Given the description of an element on the screen output the (x, y) to click on. 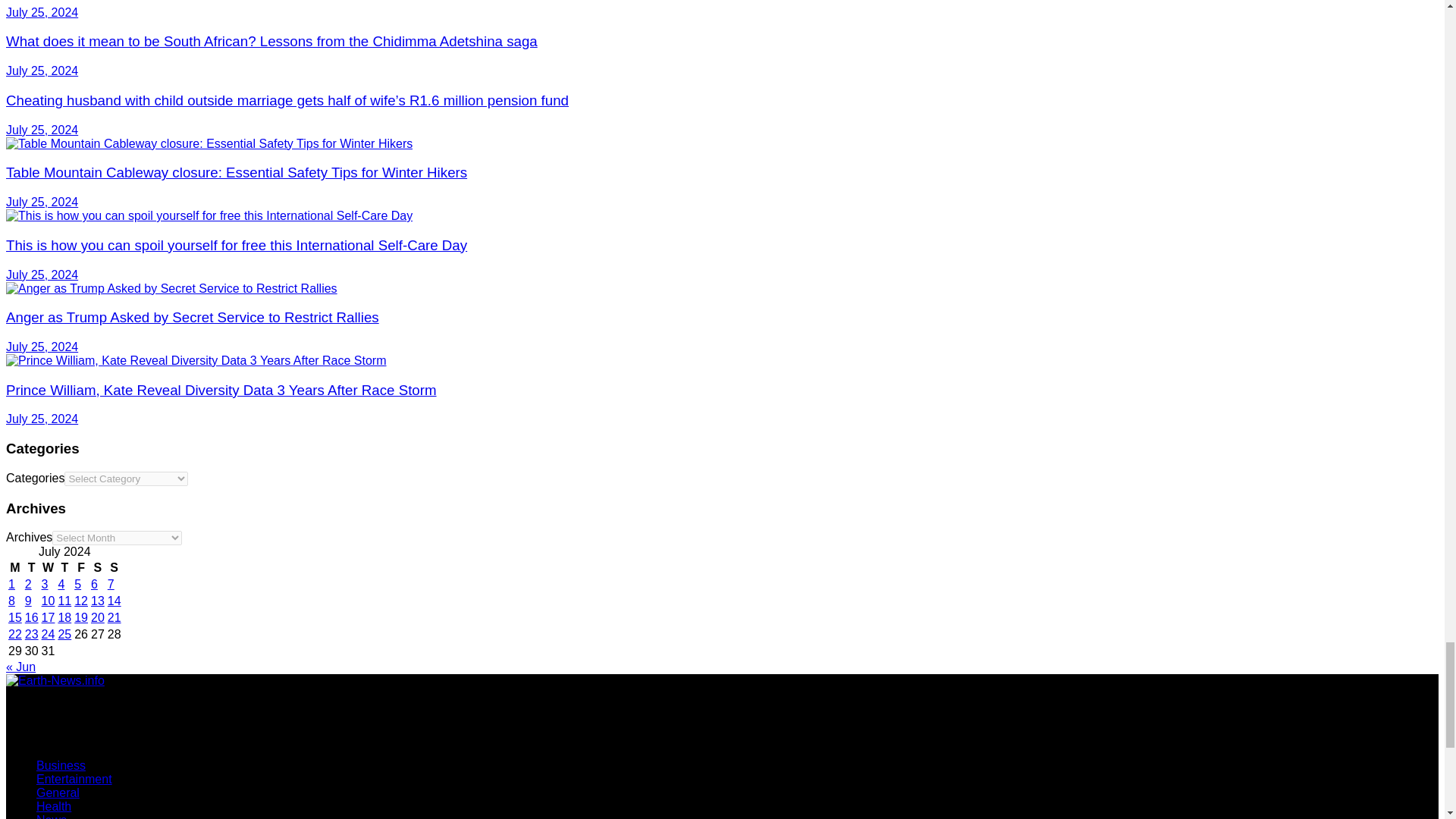
Wednesday (48, 567)
Thursday (63, 567)
Monday (15, 567)
Saturday (97, 567)
Sunday (114, 567)
Friday (81, 567)
Tuesday (31, 567)
